Given the description of an element on the screen output the (x, y) to click on. 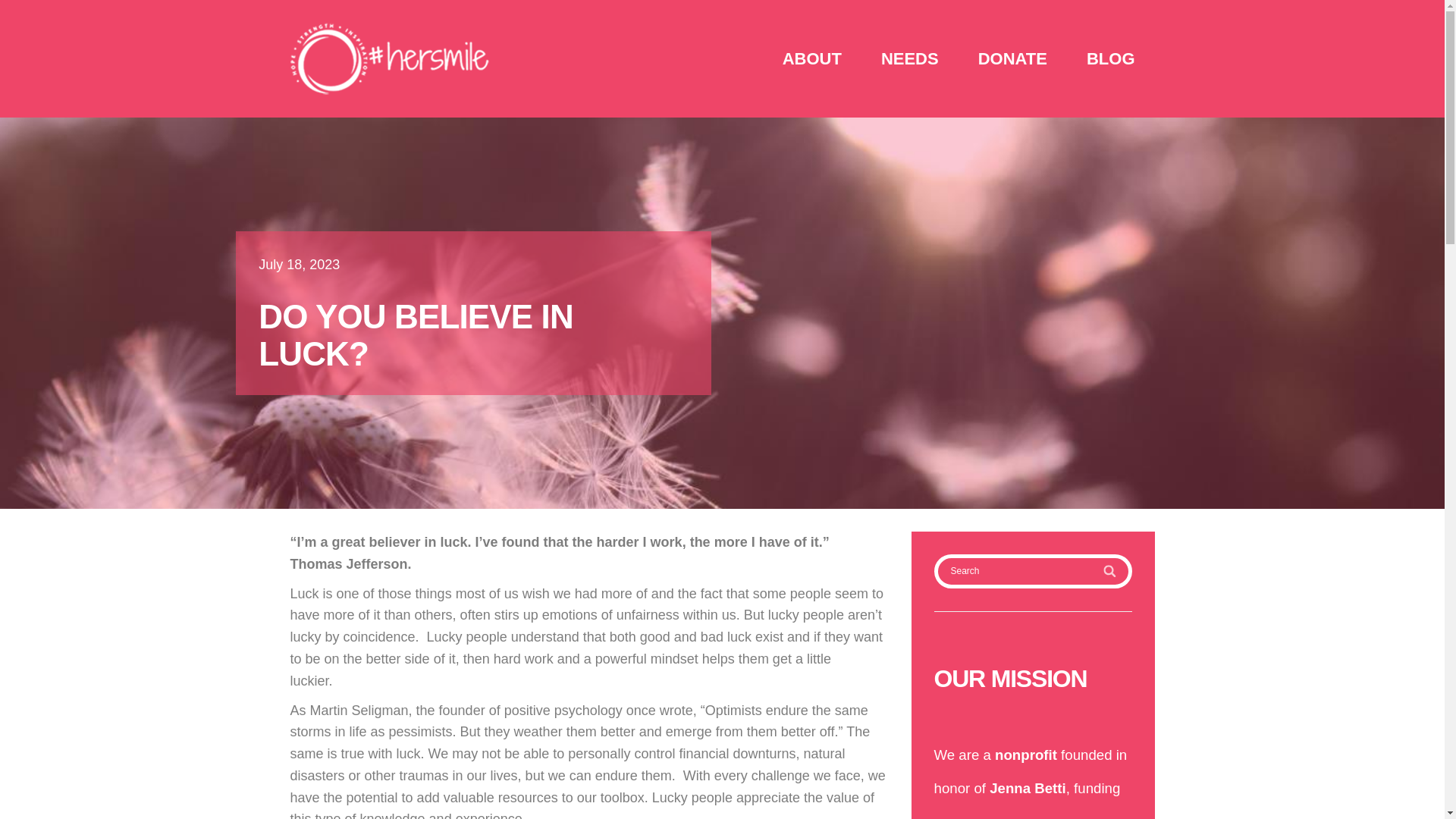
DONATE (1012, 58)
BLOG (1110, 58)
ABOUT (811, 58)
NEEDS (909, 58)
Search (1033, 571)
logo-hersmile (389, 58)
